Given the description of an element on the screen output the (x, y) to click on. 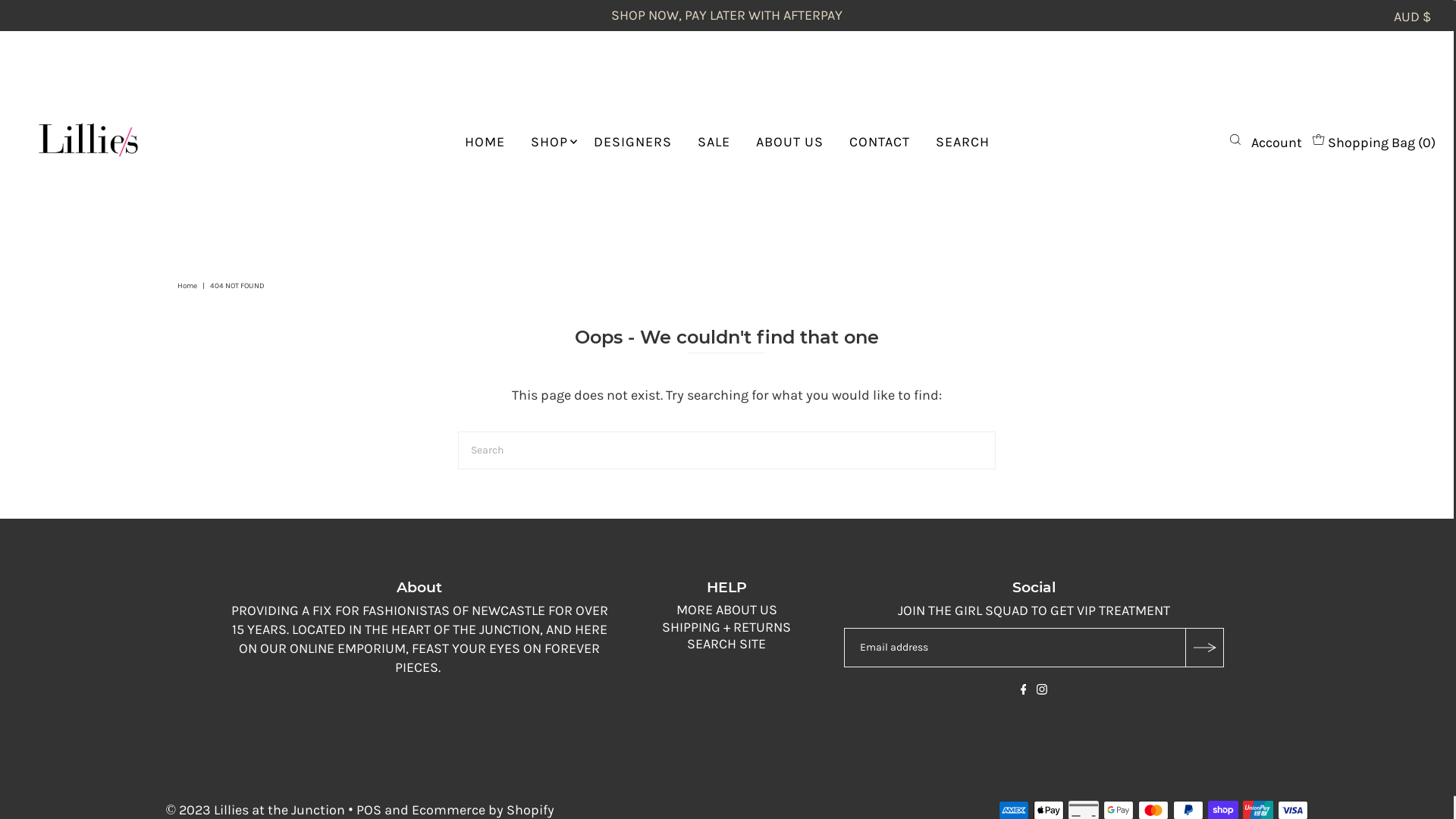
MORE ABOUT US Element type: text (726, 609)
SHIPPING + RETURNS Element type: text (726, 626)
HOME Element type: text (484, 141)
Home Element type: text (188, 285)
ABOUT US Element type: text (789, 141)
SEARCH SITE Element type: text (726, 643)
CONTACT Element type: text (878, 141)
Account Element type: text (1276, 142)
SHOP Element type: text (548, 141)
POS Element type: text (368, 809)
AUD $ Element type: text (1412, 16)
SEARCH Element type: text (961, 141)
SALE Element type: text (712, 141)
Ecommerce by Shopify Element type: text (482, 809)
DESIGNERS Element type: text (632, 141)
